Given the description of an element on the screen output the (x, y) to click on. 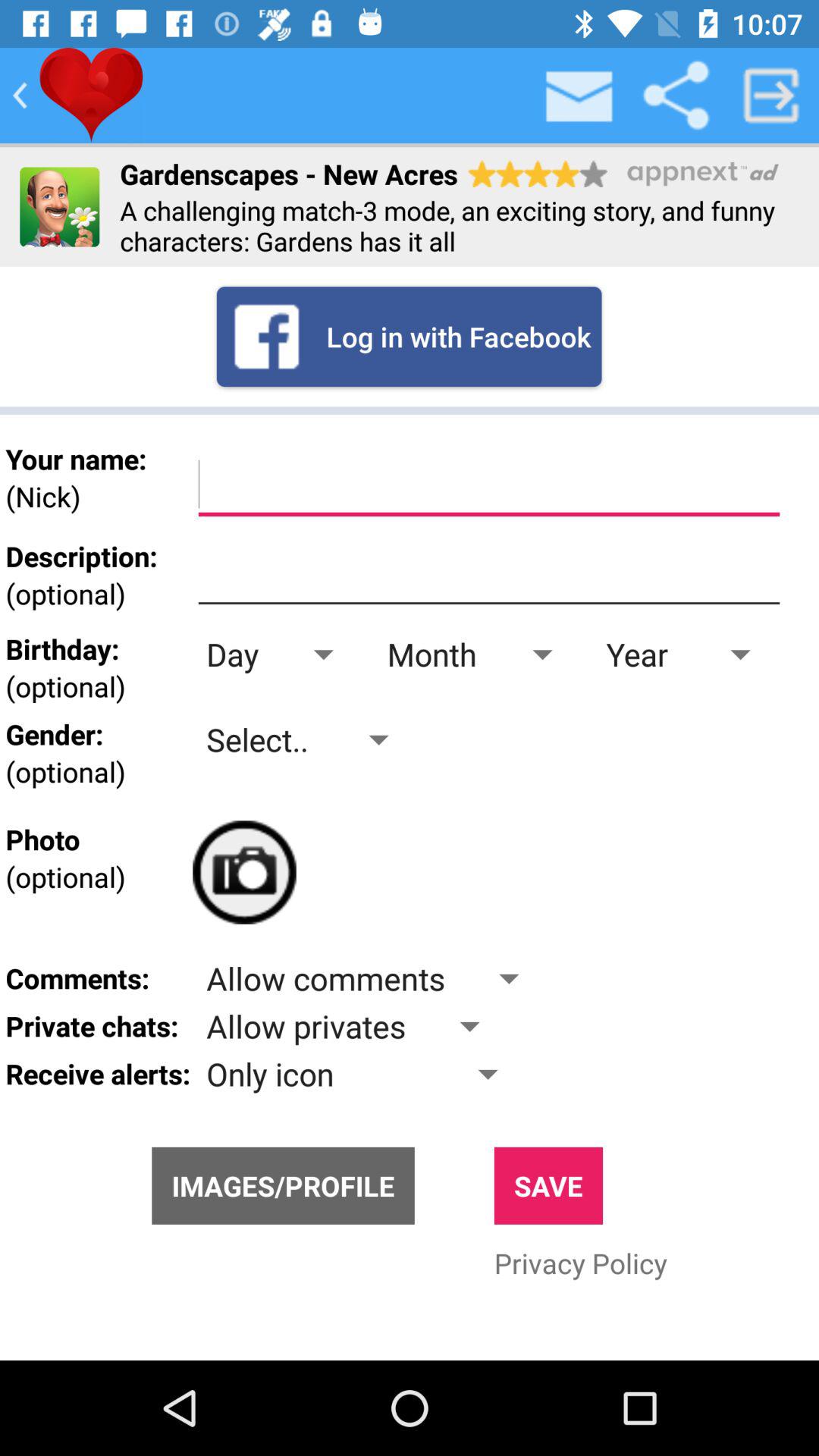
go bake button (19, 95)
